Given the description of an element on the screen output the (x, y) to click on. 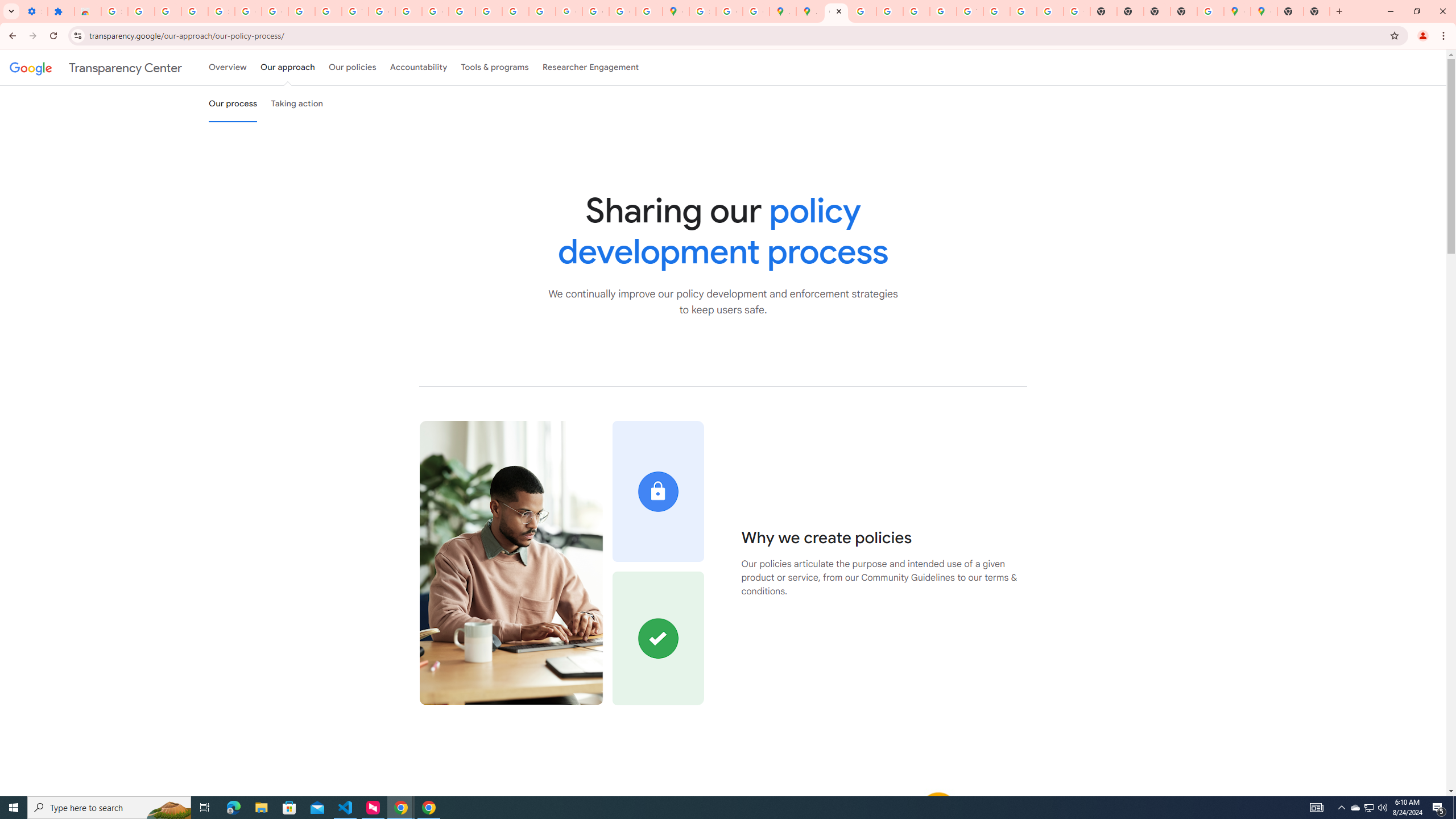
Our policies (351, 67)
Use Google Maps in Space - Google Maps Help (1210, 11)
Privacy Help Center - Policies Help (862, 11)
New Tab (1183, 11)
https://scholar.google.com/ (408, 11)
Tools & programs (494, 67)
Extensions (61, 11)
Privacy Help Center - Policies Help (462, 11)
